Given the description of an element on the screen output the (x, y) to click on. 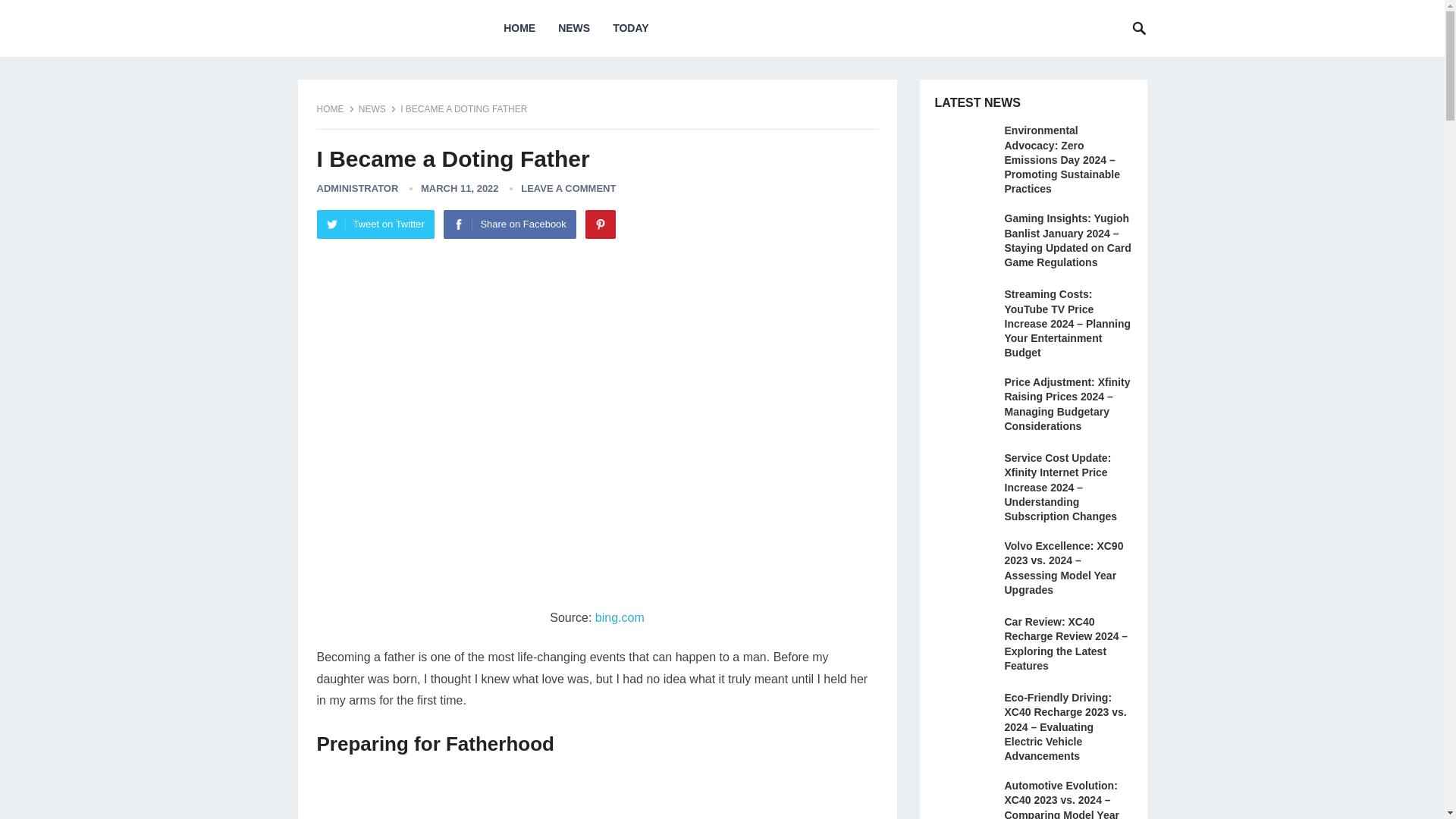
TODAY (630, 28)
Share on Facebook (509, 224)
HOME (336, 109)
View all posts in News (377, 109)
NEWS (574, 28)
ADMINISTRATOR (357, 188)
bing.com (620, 617)
Pinterest (600, 224)
Tweet on Twitter (375, 224)
